Given the description of an element on the screen output the (x, y) to click on. 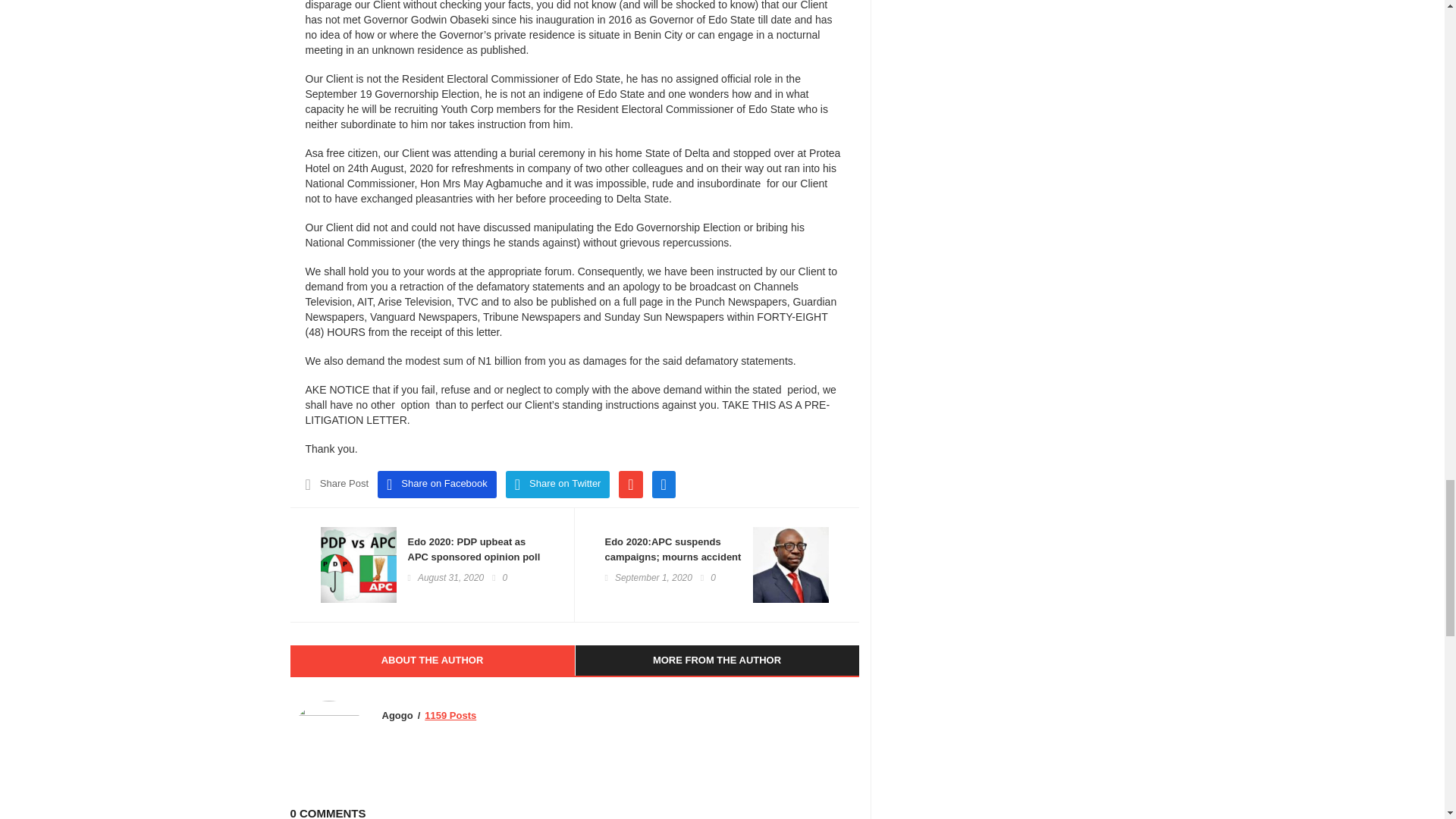
0 (708, 577)
MORE FROM THE AUTHOR (717, 660)
0 (499, 577)
Edo 2020:APC suspends campaigns; mourns accident victims (673, 556)
prev post (475, 556)
1159 Posts (450, 715)
ABOUT THE AUTHOR (431, 660)
Share on Facebook (436, 483)
Share on Twitter (557, 483)
